Given the description of an element on the screen output the (x, y) to click on. 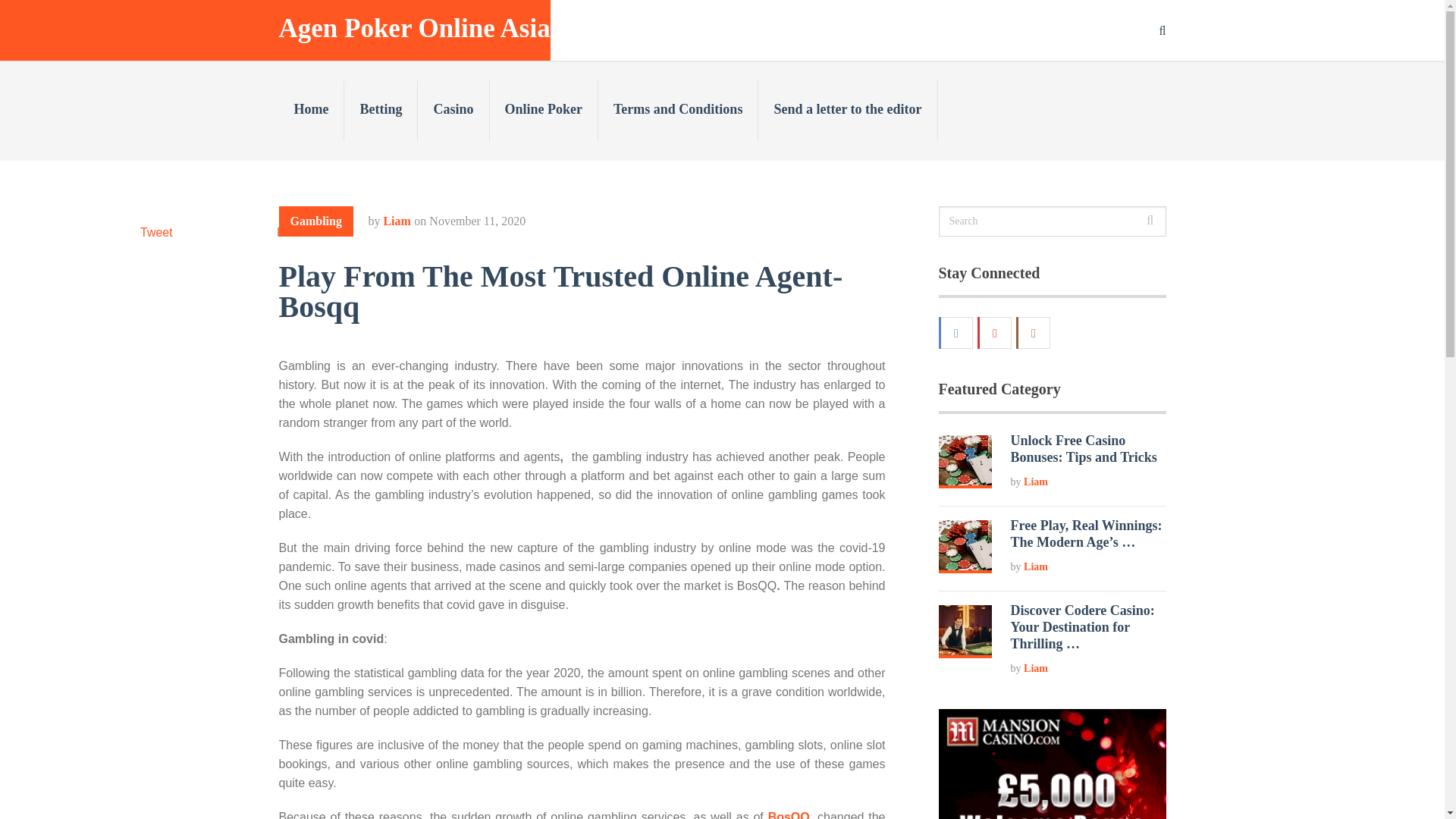
Instagram (1033, 332)
Online Poker (543, 110)
Gambling (316, 221)
Facebook (956, 332)
Agen Poker Online Asia (414, 28)
Pin It (290, 232)
Liam (1035, 481)
Pinterest (995, 332)
Liam (1035, 566)
View all posts in Gambling (316, 221)
